Given the description of an element on the screen output the (x, y) to click on. 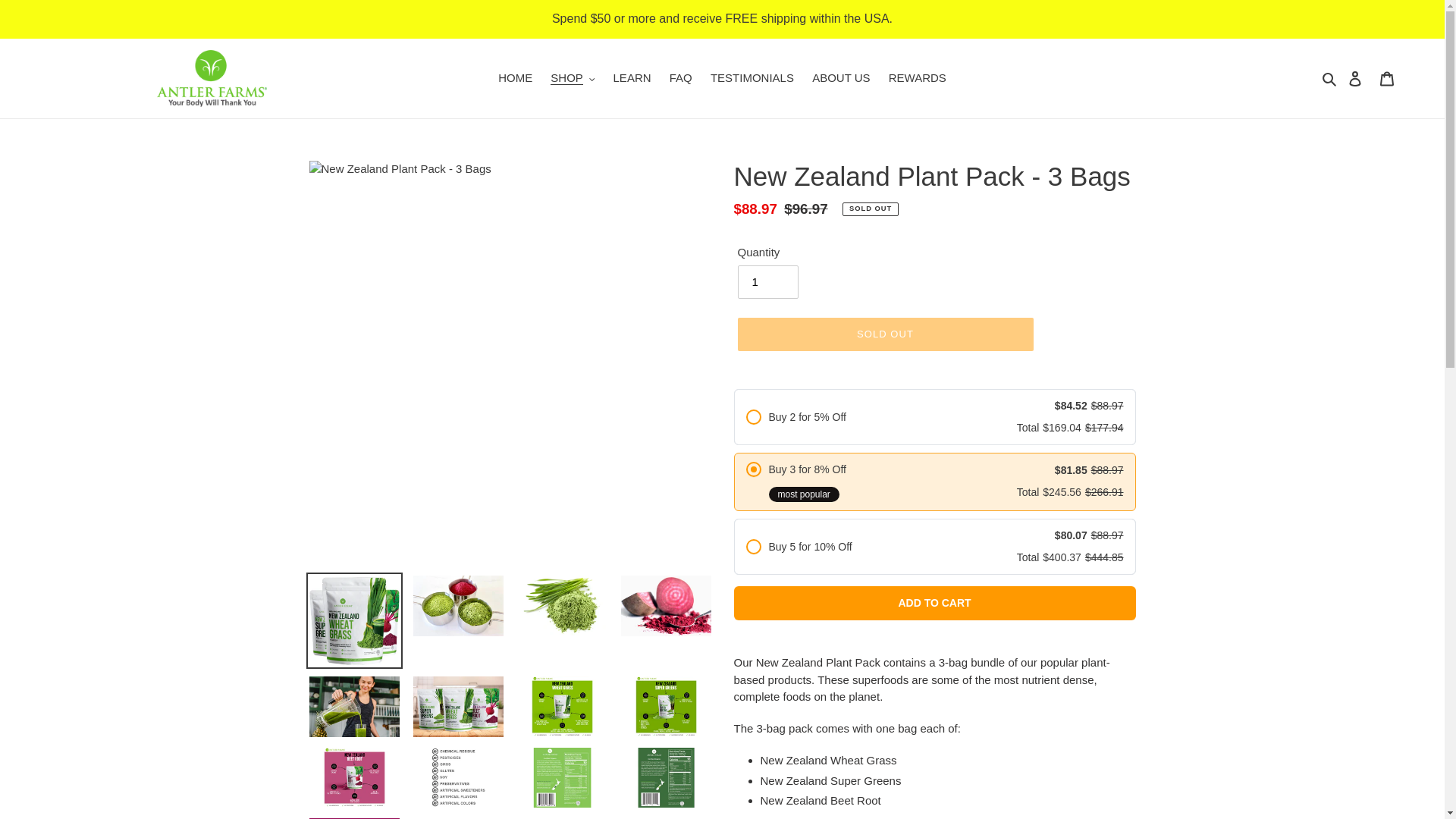
HOME (515, 78)
1 (766, 281)
SHOP (572, 78)
